Given the description of an element on the screen output the (x, y) to click on. 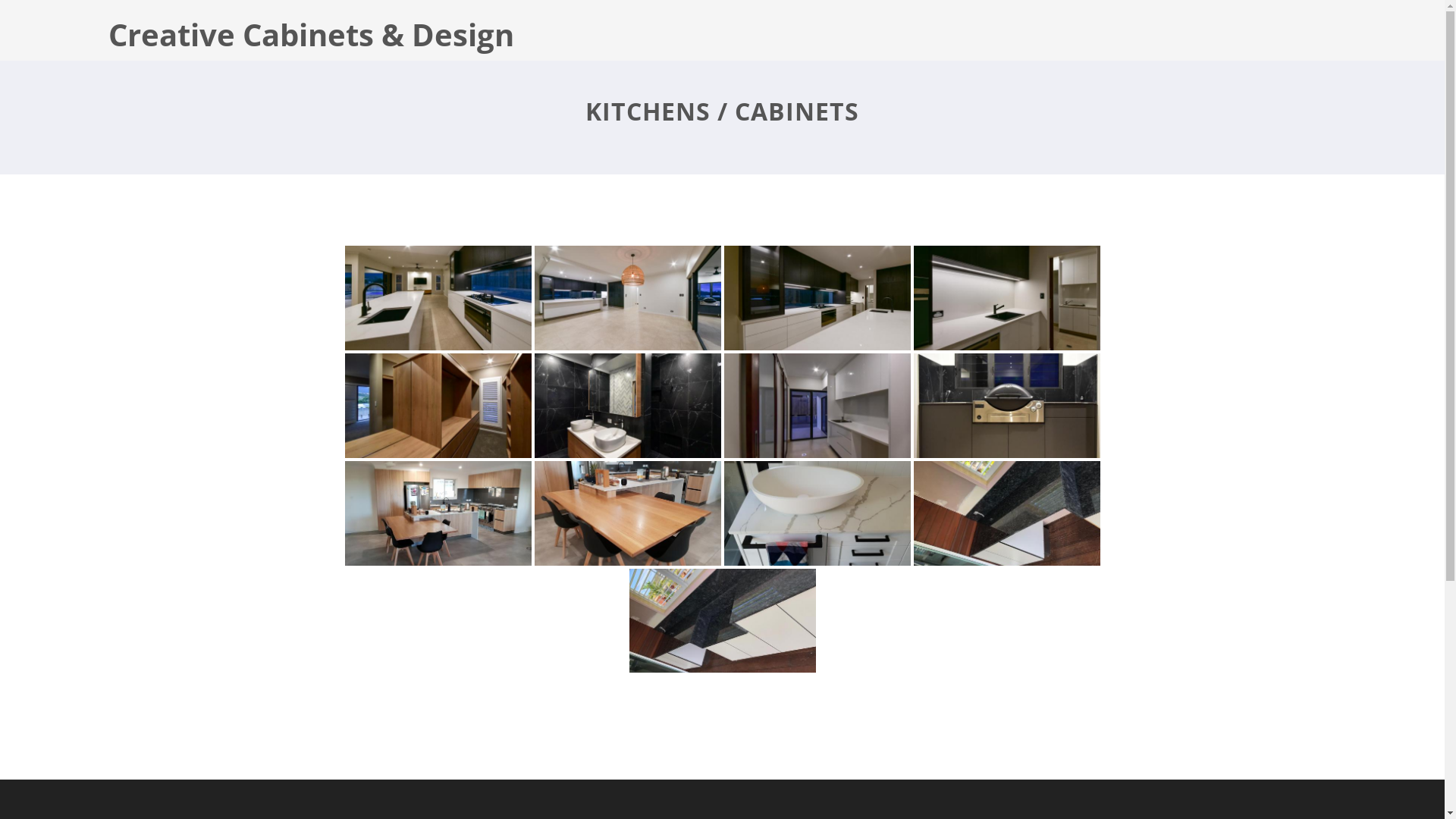
Beames 45-29 Element type: hover (816, 395)
Beames 45-12 Element type: hover (437, 287)
20181112 173801 Element type: hover (626, 494)
Beames 45-26 Element type: hover (626, 395)
IMG 2855 Element type: hover (1006, 494)
20181128 141805 Element type: hover (816, 481)
Beames 45-16 Element type: hover (816, 287)
Beames 45-33 Element type: hover (1006, 395)
Beames 45-10 Element type: hover (626, 287)
IMG 2853 Element type: hover (722, 602)
Beames 45-23 Element type: hover (437, 395)
20181112 173643 Element type: hover (437, 494)
Beames 45-13 Element type: hover (1006, 287)
Creative Cabinets & Design Element type: text (311, 34)
